Given the description of an element on the screen output the (x, y) to click on. 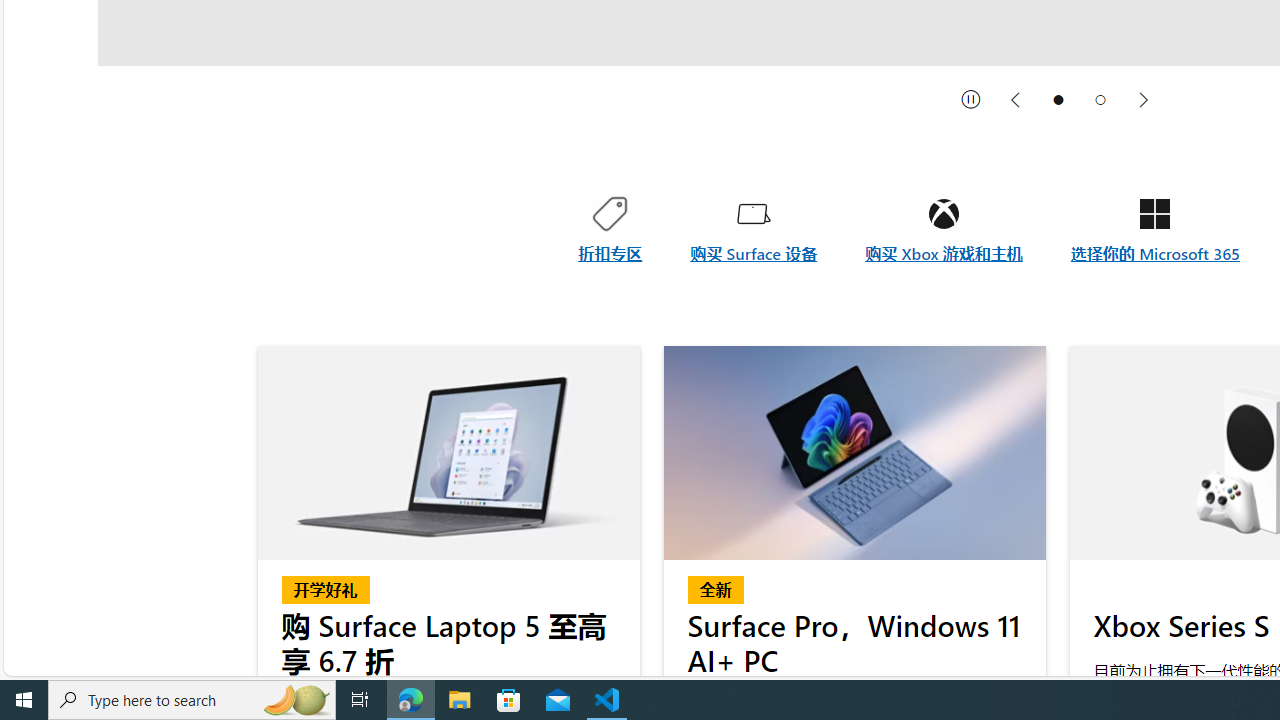
Pause (971, 99)
